Given the description of an element on the screen output the (x, y) to click on. 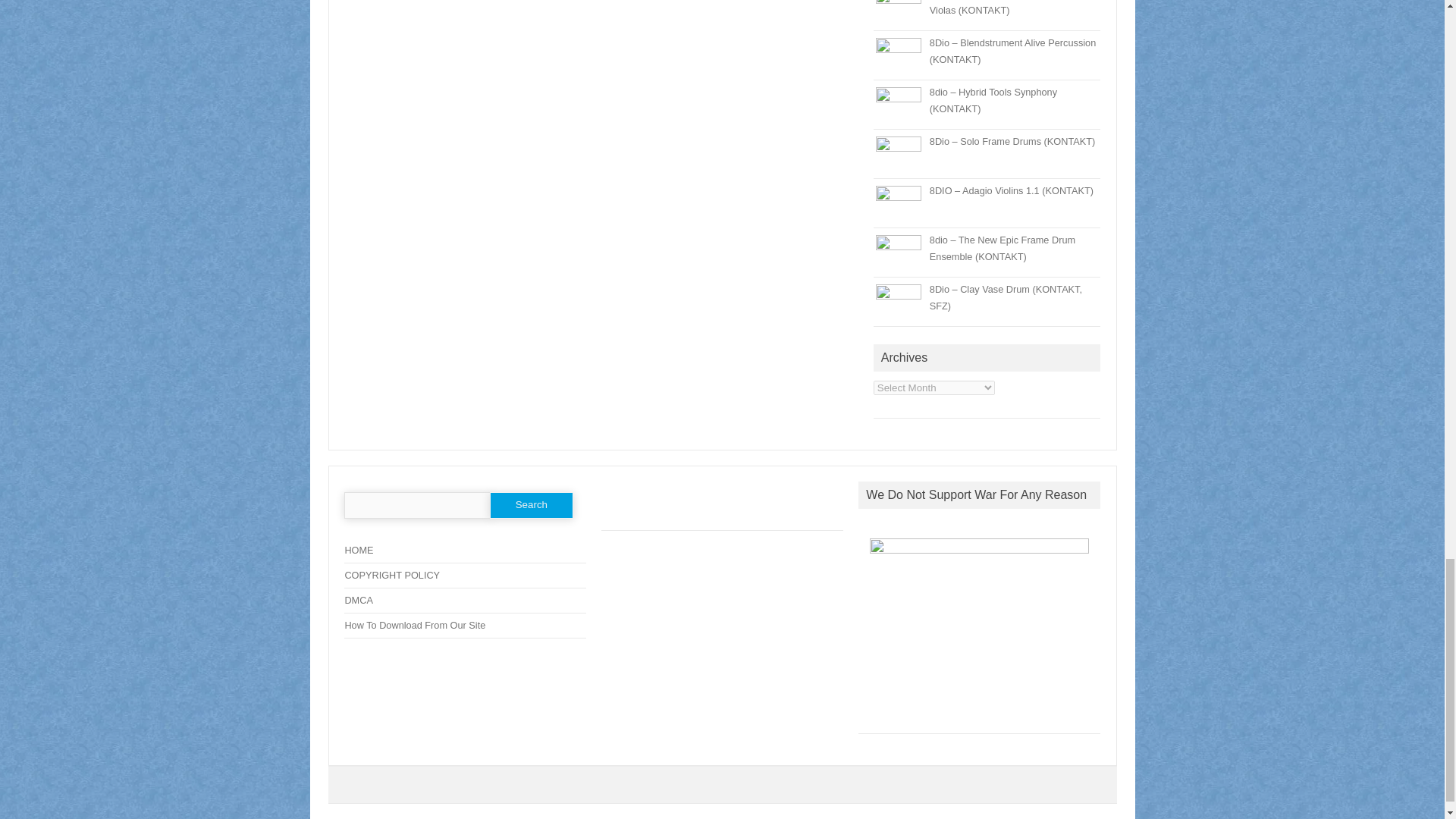
Search (530, 505)
